Given the description of an element on the screen output the (x, y) to click on. 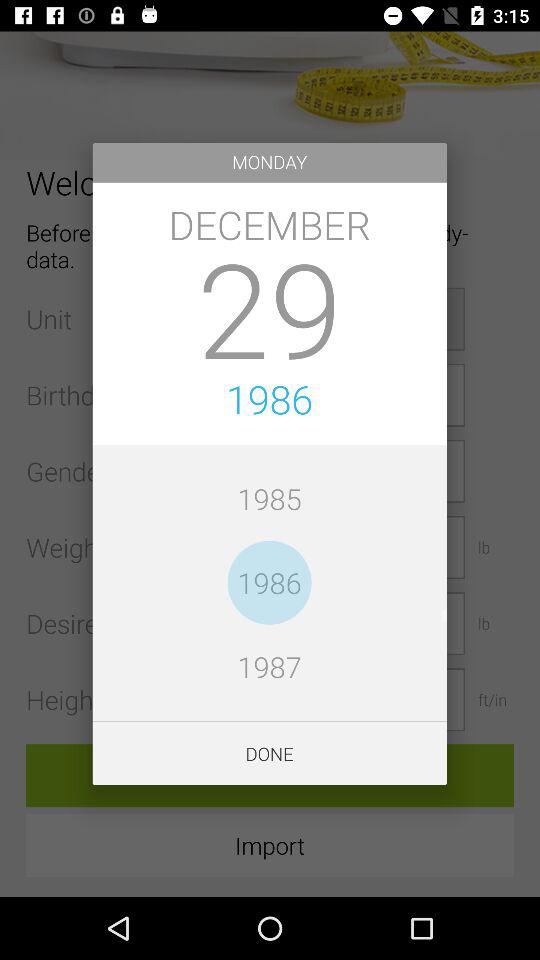
turn off done item (269, 753)
